Given the description of an element on the screen output the (x, y) to click on. 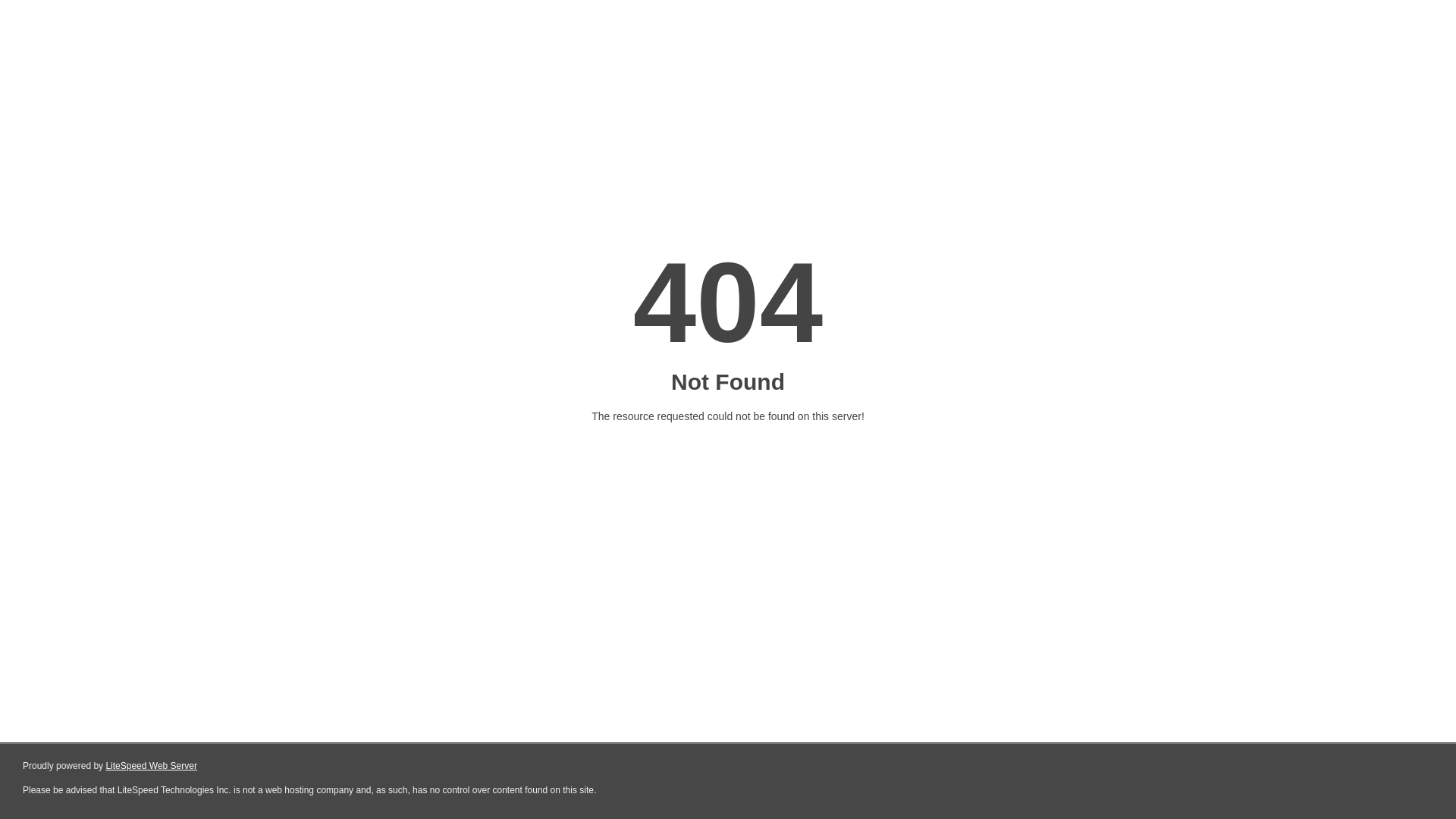
LiteSpeed Web Server Element type: text (151, 765)
